Given the description of an element on the screen output the (x, y) to click on. 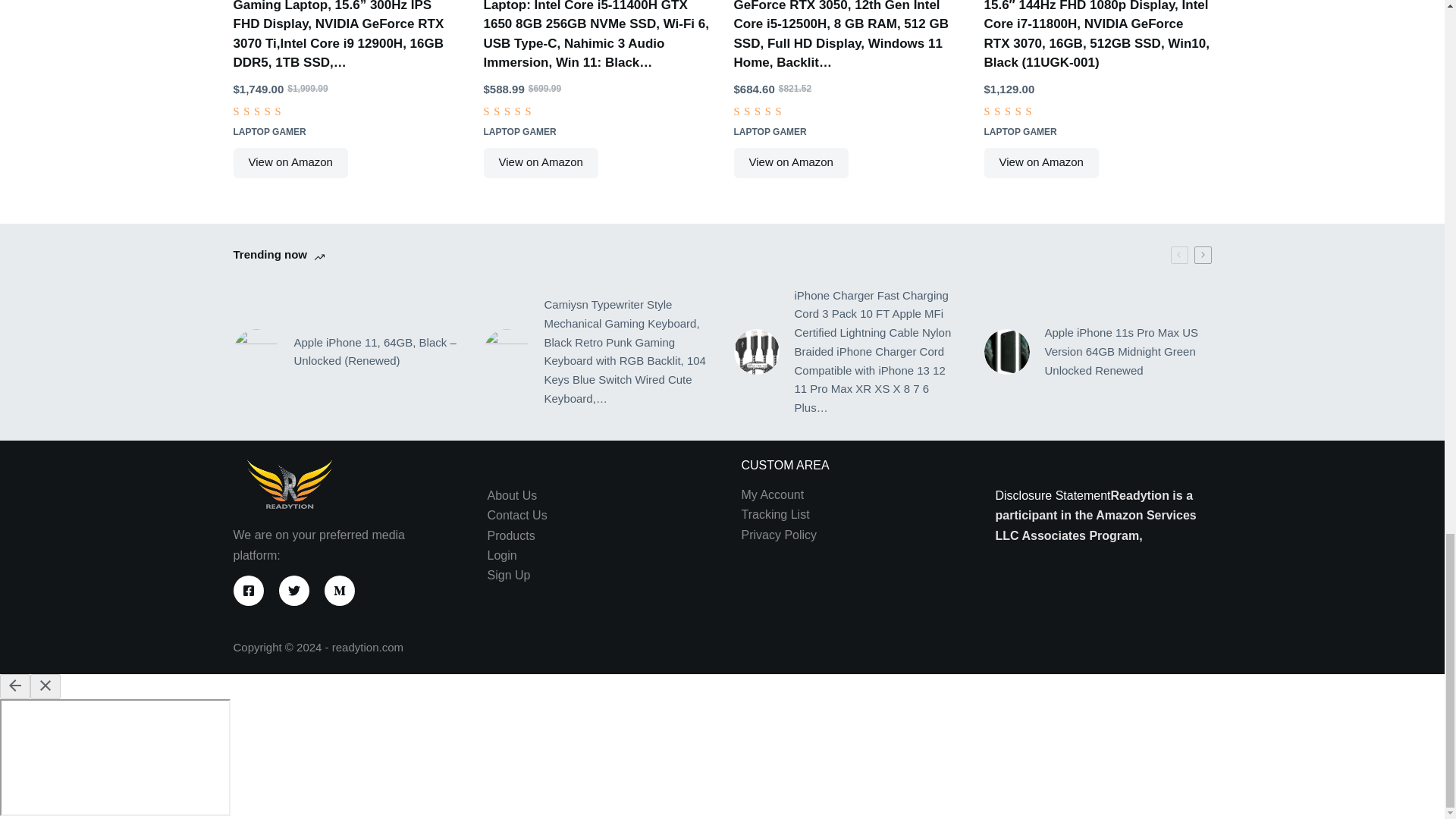
twiter (293, 590)
medium (339, 590)
